Given the description of an element on the screen output the (x, y) to click on. 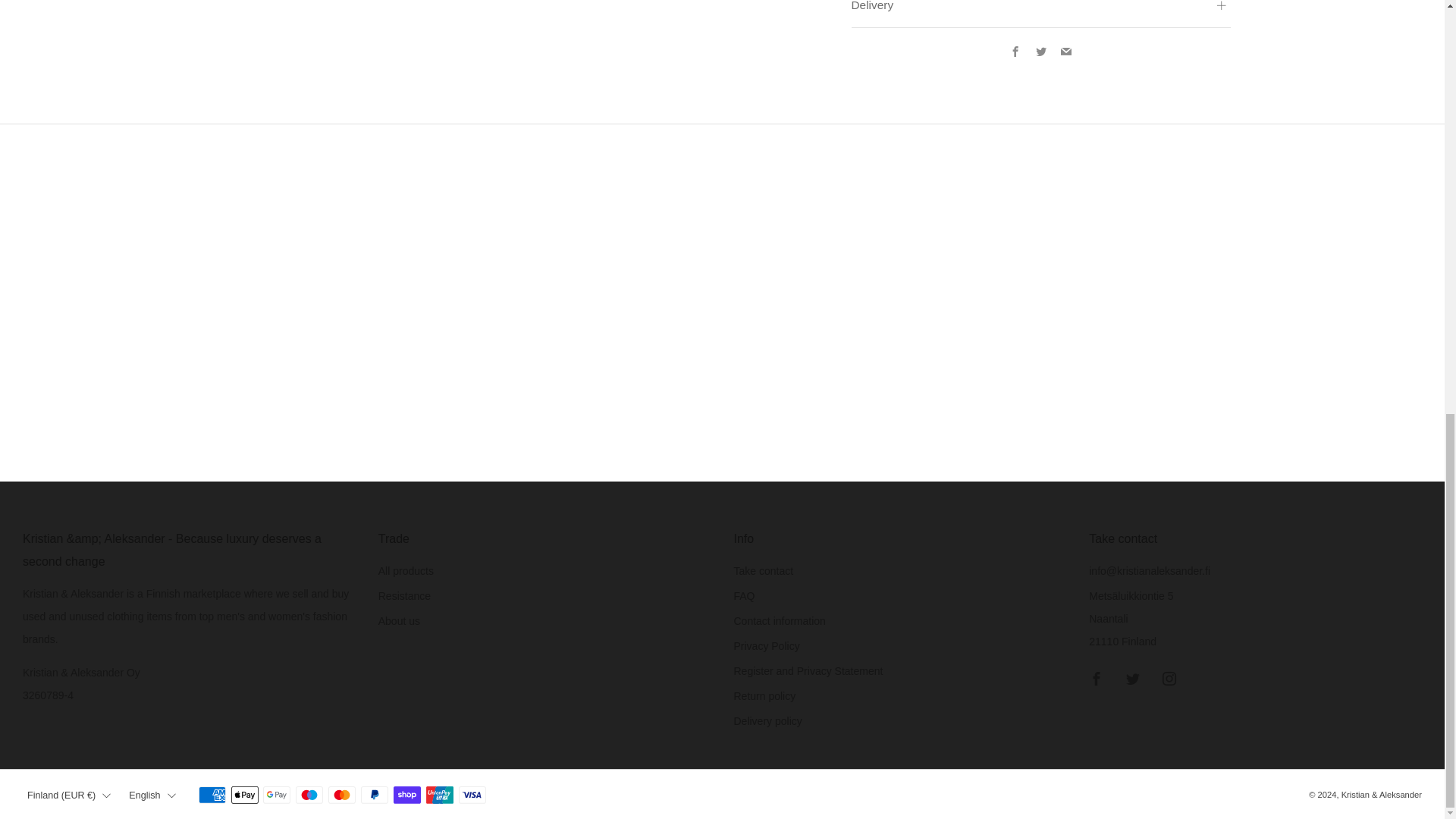
Apple Pay (243, 794)
Mastercard (342, 794)
American Express (211, 794)
Maestro (309, 794)
Union Pay (439, 794)
Shop Pay (406, 794)
PayPal (374, 794)
Visa (472, 794)
Google Pay (276, 794)
